Given the description of an element on the screen output the (x, y) to click on. 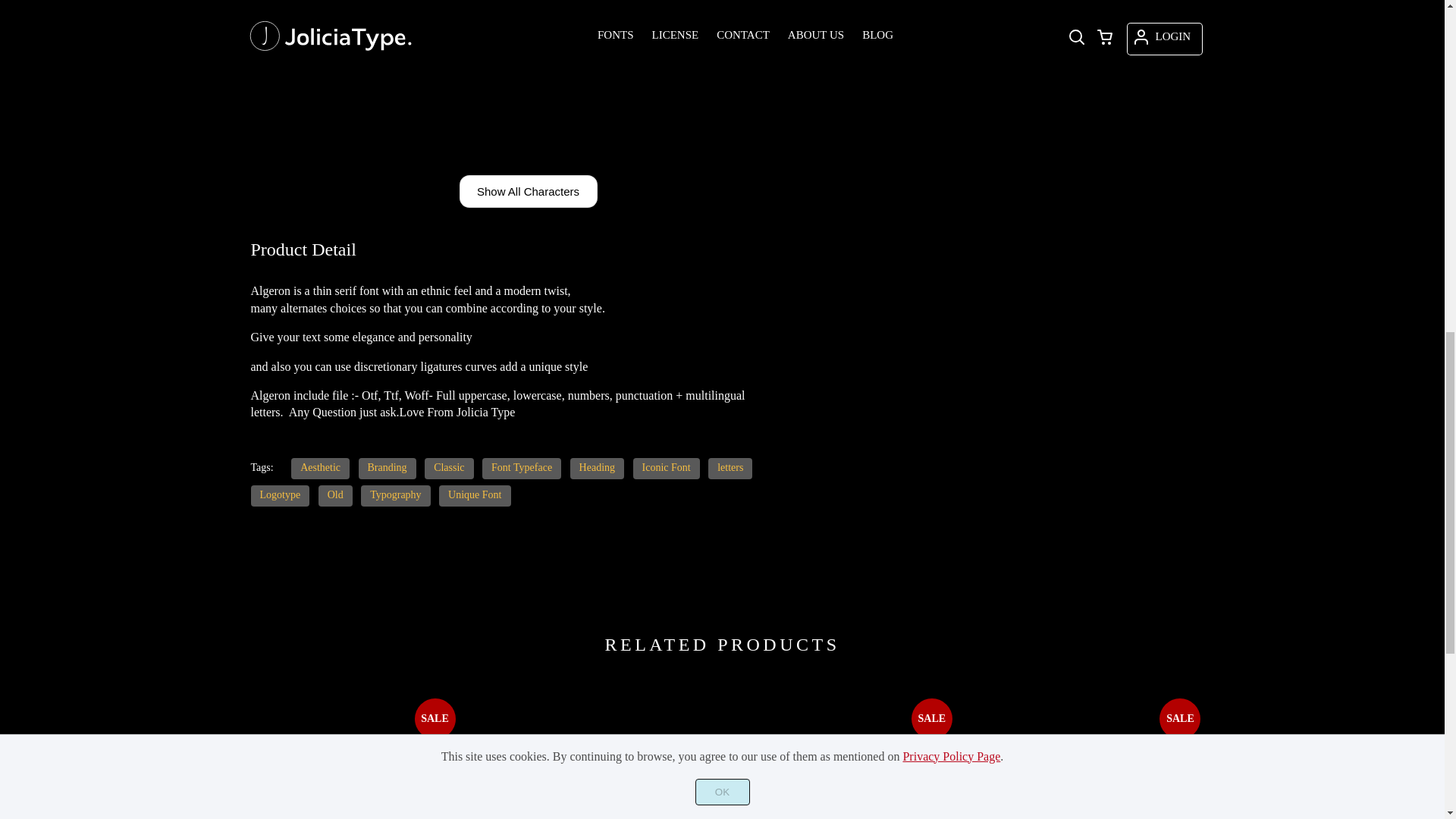
Rolie Twily (597, 747)
Show All Characters (527, 191)
Old (335, 495)
Font Typeface (520, 468)
letters (729, 468)
Iconic Font (666, 468)
Typography (395, 495)
